Given the description of an element on the screen output the (x, y) to click on. 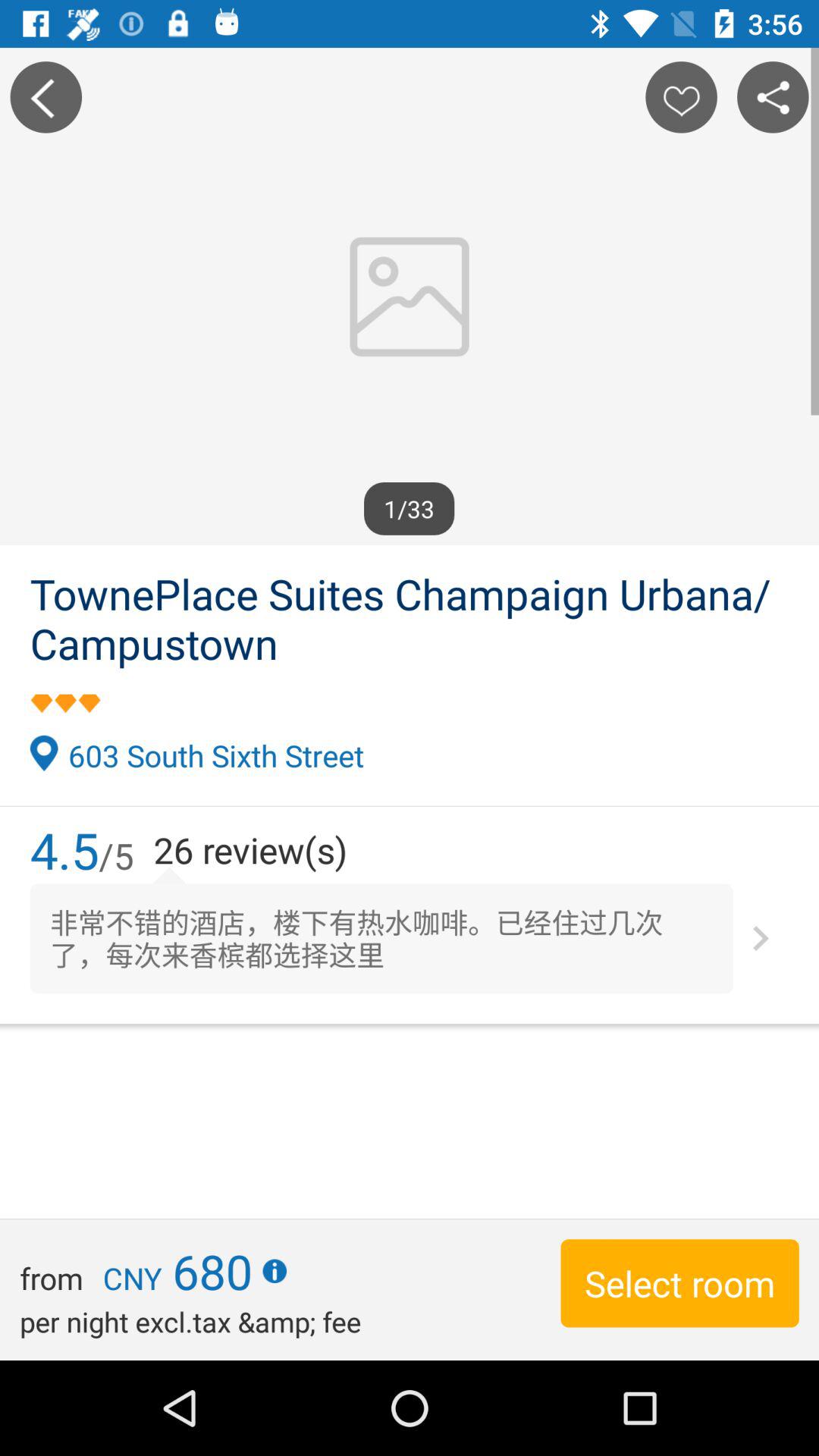
turn off select room (679, 1283)
